Given the description of an element on the screen output the (x, y) to click on. 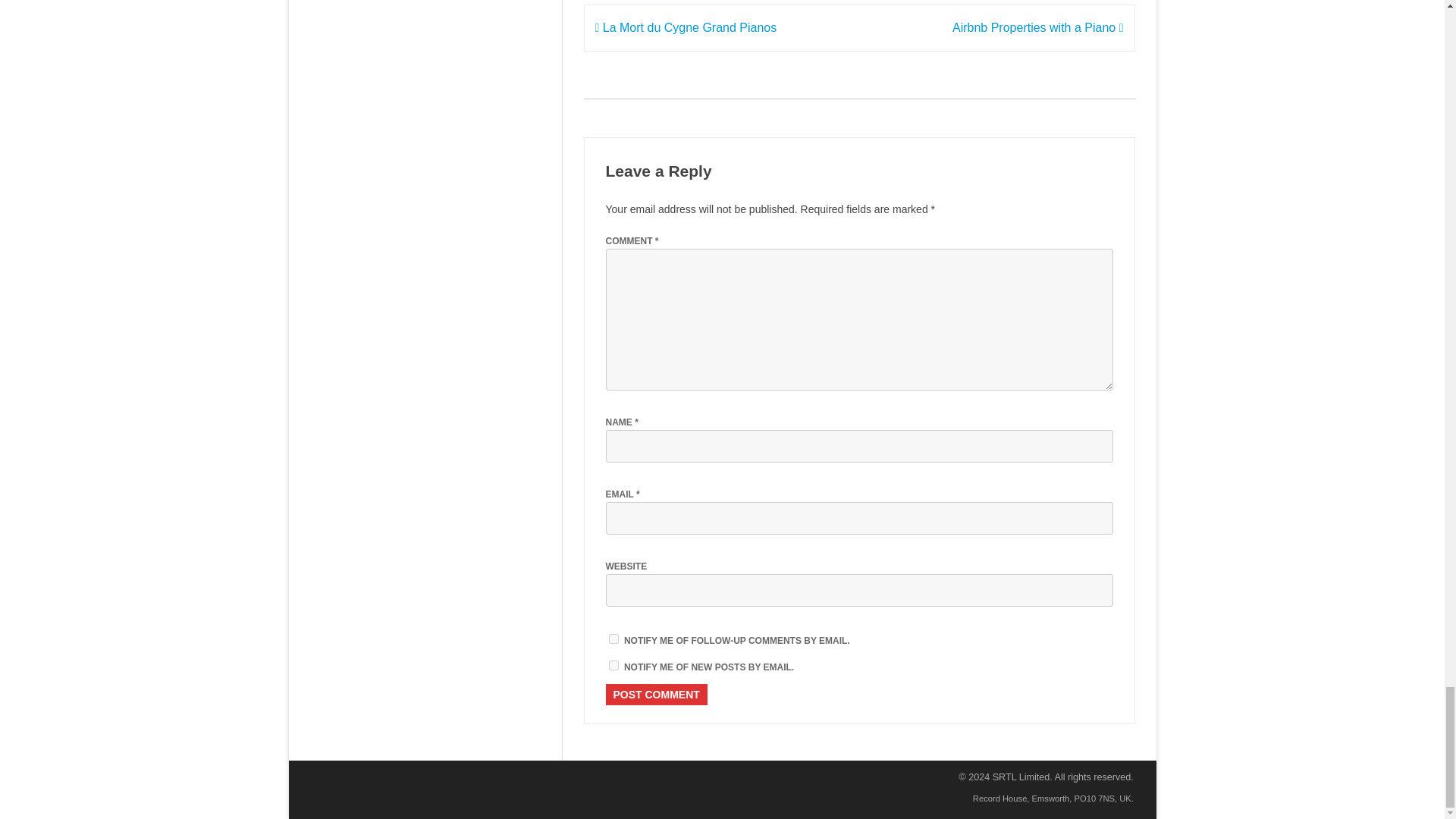
subscribe (612, 638)
Post Comment (655, 694)
subscribe (612, 665)
